Given the description of an element on the screen output the (x, y) to click on. 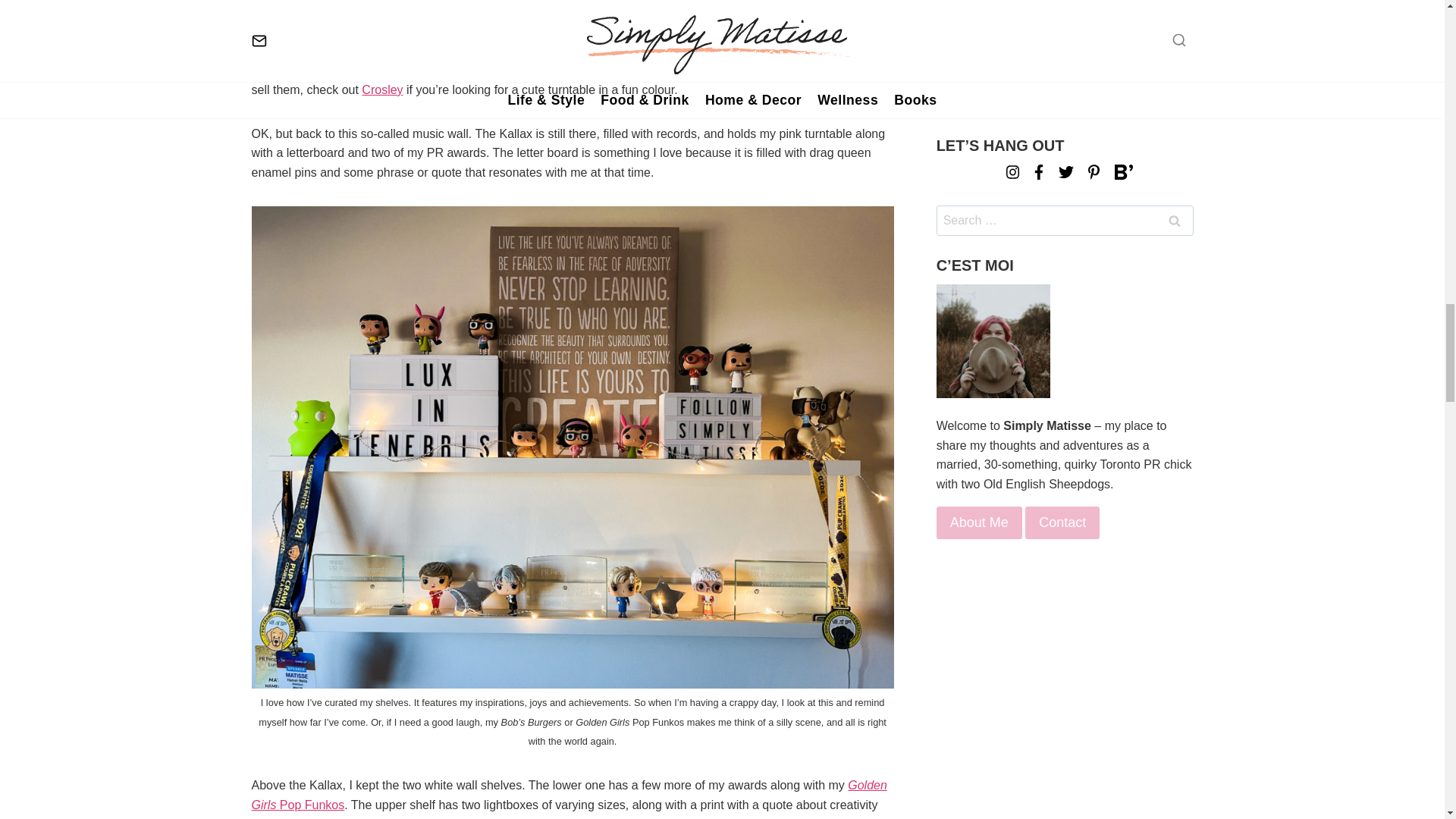
Golden Girls Pop Funkos (568, 794)
Crosley (382, 89)
